Given the description of an element on the screen output the (x, y) to click on. 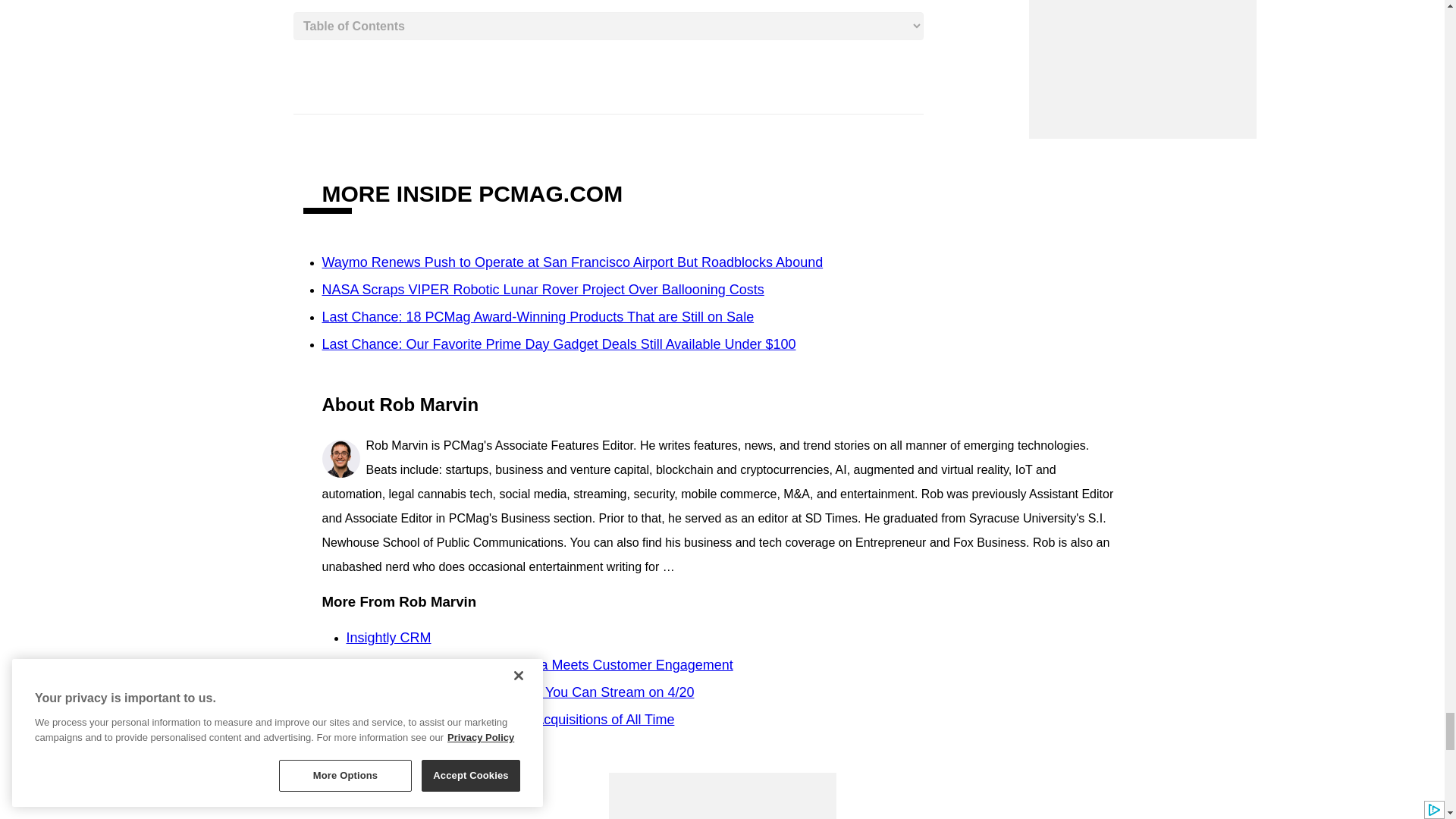
3rd party ad content (721, 796)
